Given the description of an element on the screen output the (x, y) to click on. 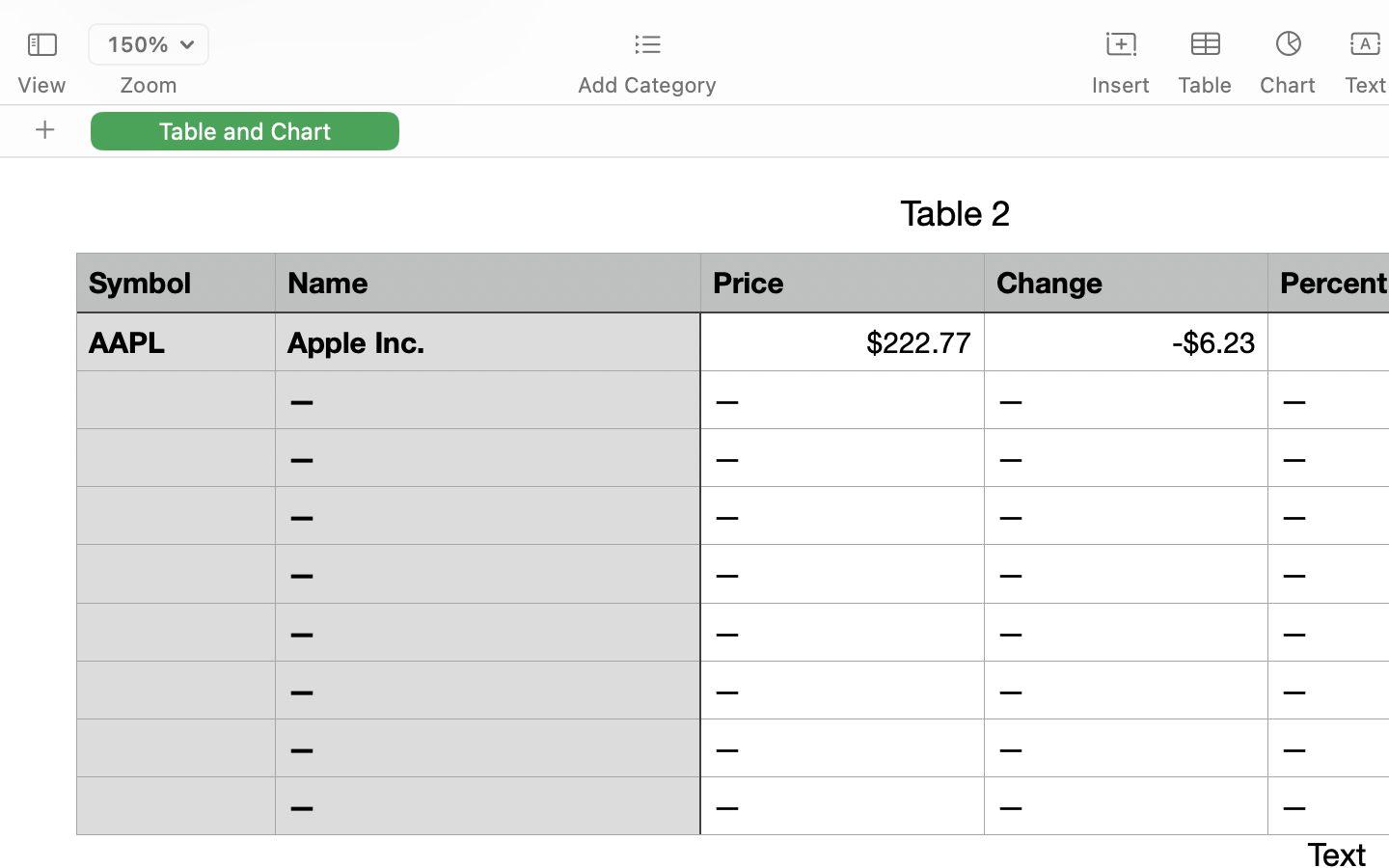
Insert Element type: AXStaticText (1120, 84)
View Element type: AXStaticText (41, 84)
Untitled Element type: AXStaticText (1334, 24)
Table and Chart Element type: AXStaticText (244, 129)
